Given the description of an element on the screen output the (x, y) to click on. 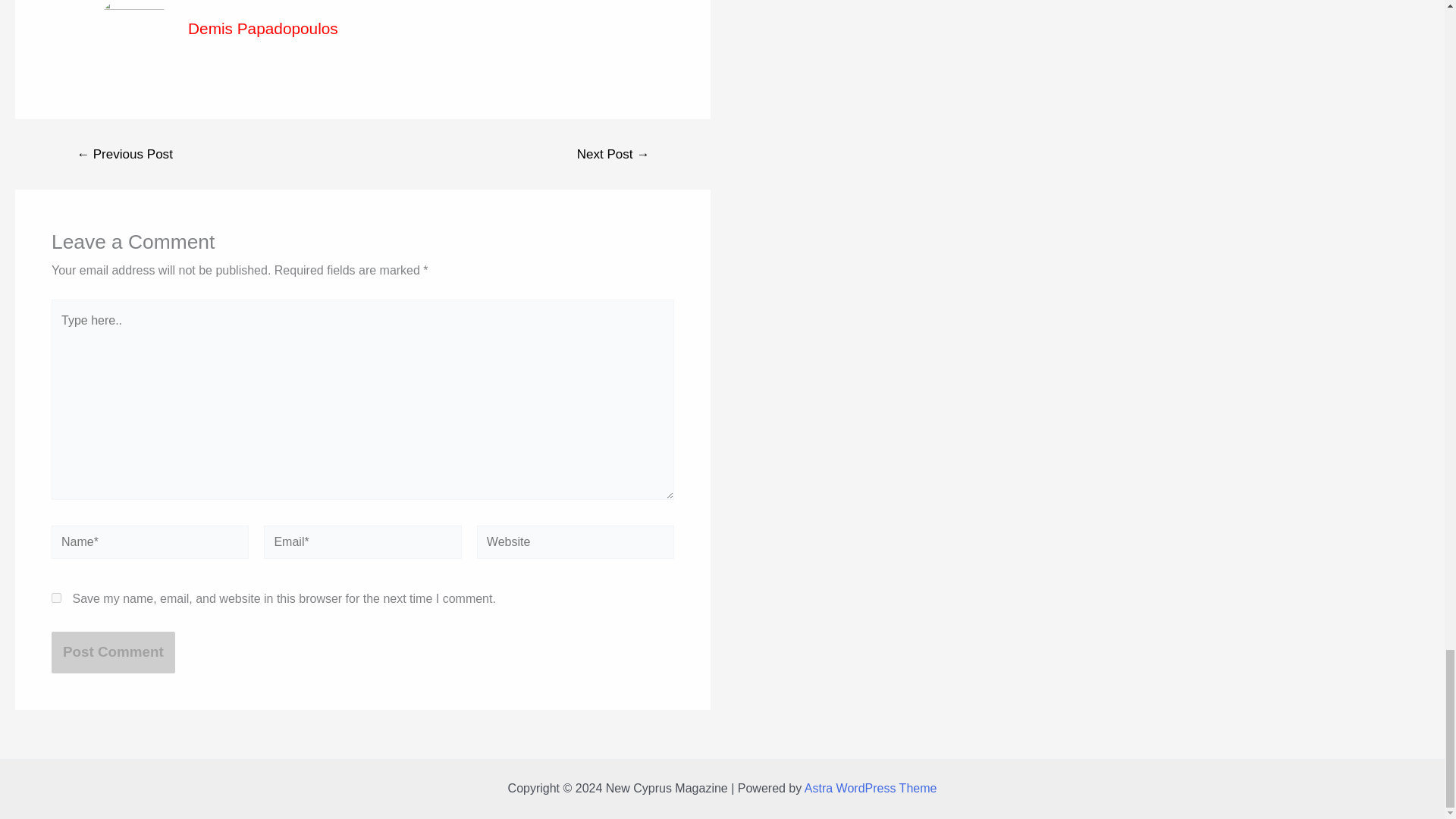
Post Comment (112, 652)
Post Comment (112, 652)
Demis Papadopoulos (262, 28)
yes (55, 597)
